Given the description of an element on the screen output the (x, y) to click on. 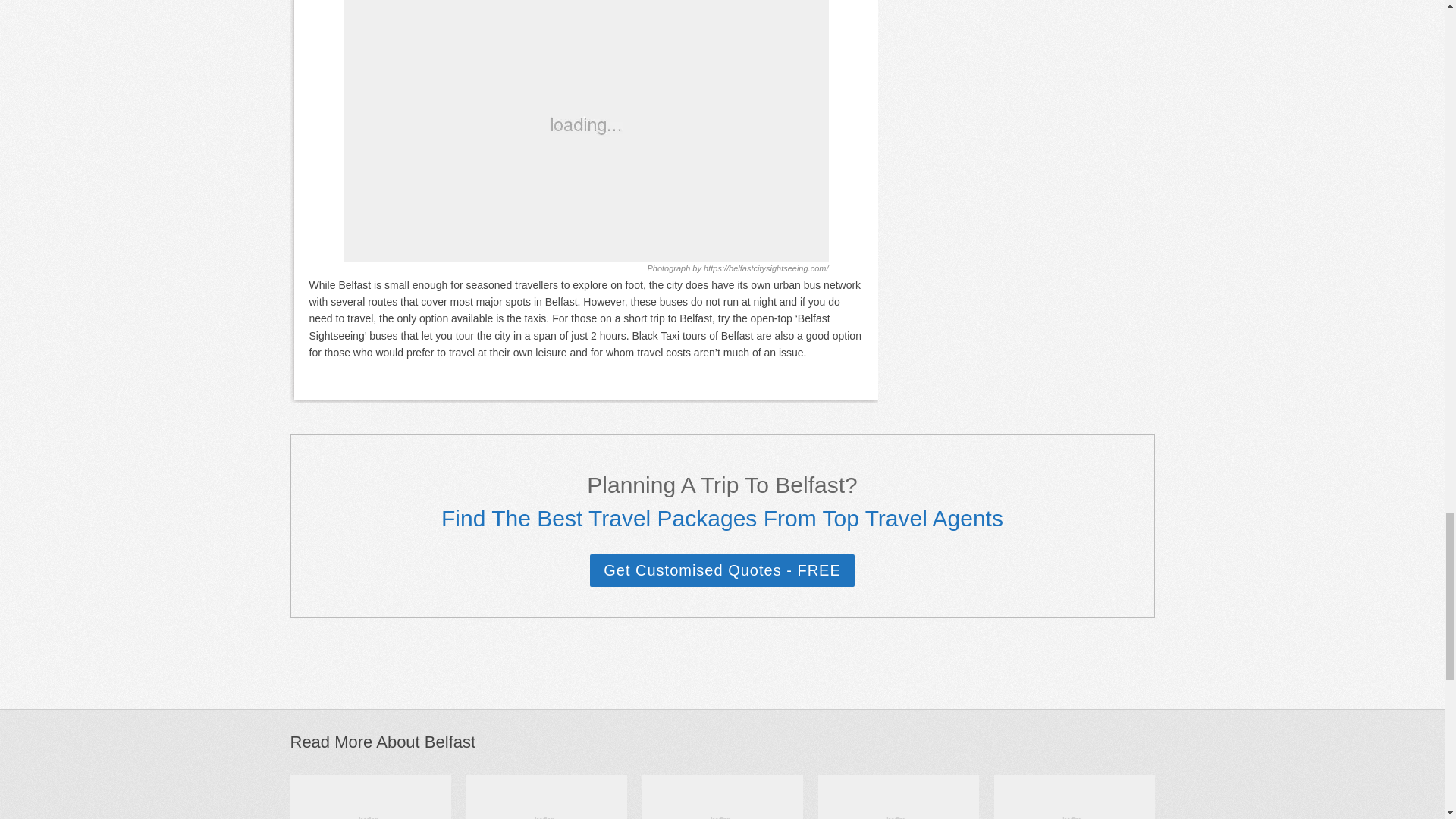
Getting Around:  How To Reach Belfast (585, 130)
Get Customised Quotes - FREE (721, 570)
Belfast Tourism And Travel Guide (369, 796)
